Given the description of an element on the screen output the (x, y) to click on. 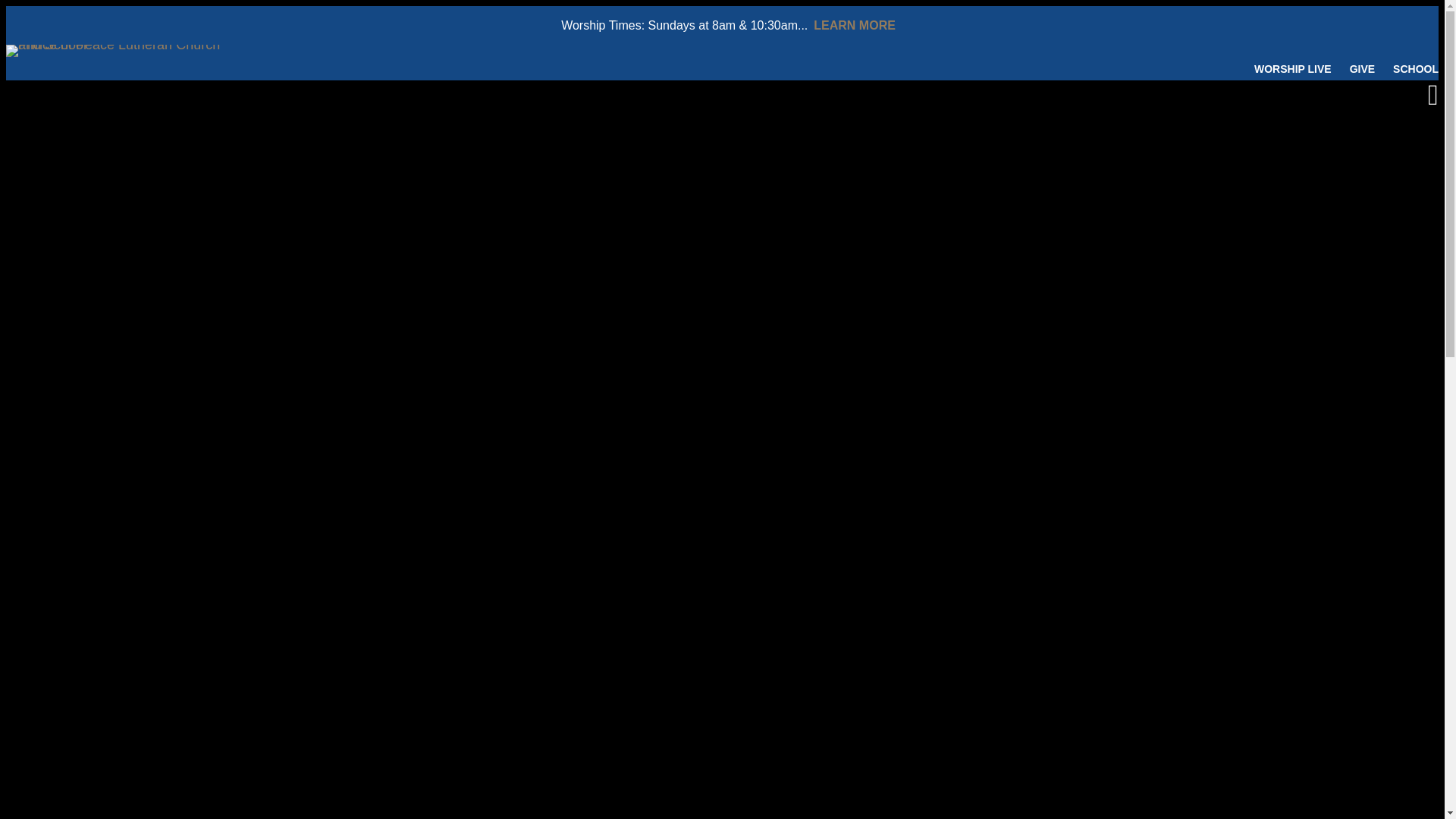
Give (1361, 69)
GIVE (1361, 69)
Worship Live (1292, 69)
WORSHIP LIVE (1292, 69)
